Given the description of an element on the screen output the (x, y) to click on. 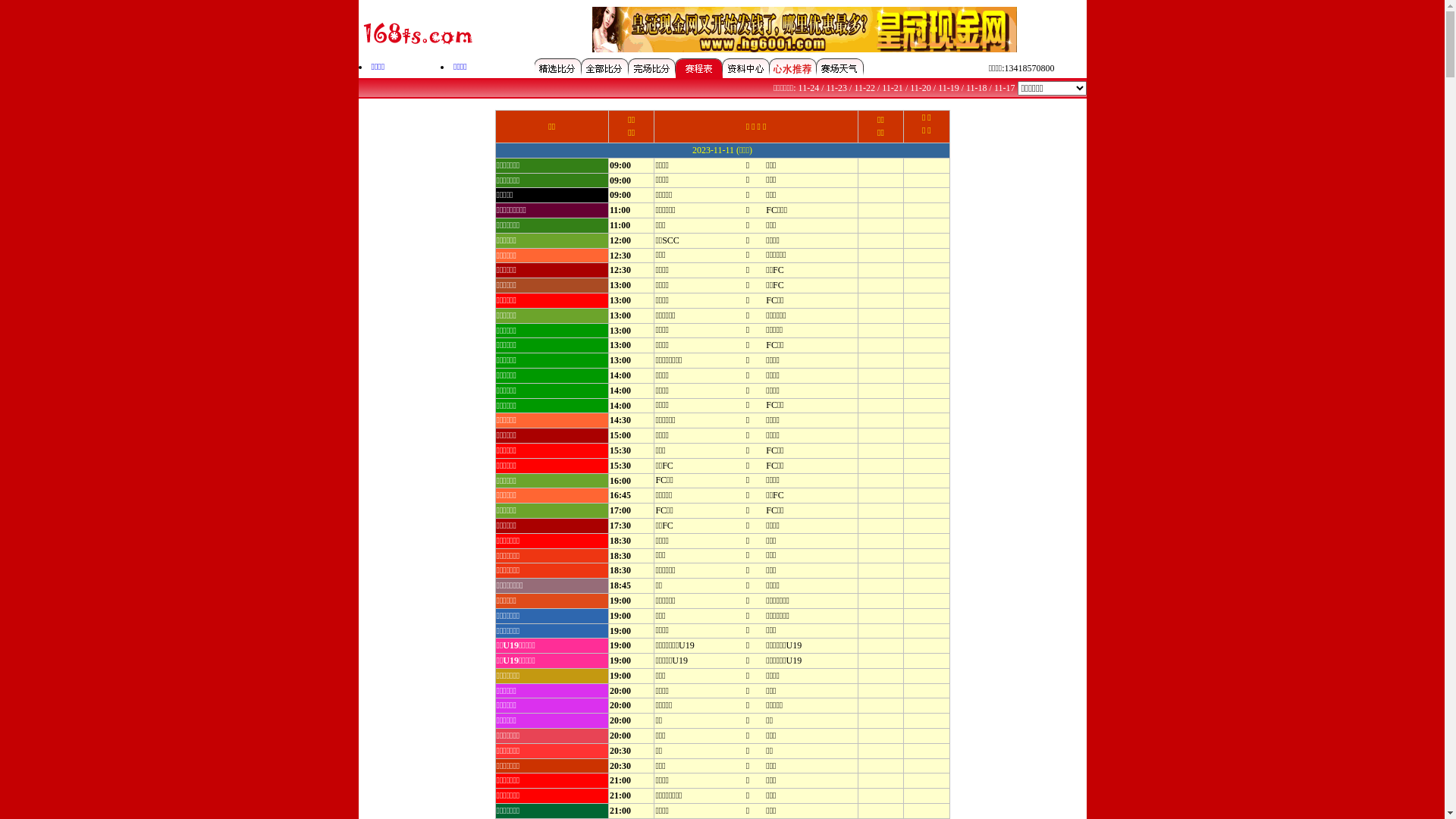
11-23 Element type: text (836, 87)
11-18 Element type: text (976, 87)
11-22 Element type: text (864, 87)
11-21 Element type: text (892, 87)
11-24 Element type: text (808, 87)
11-17 Element type: text (1004, 87)
11-20 Element type: text (920, 87)
11-19 Element type: text (948, 87)
